Given the description of an element on the screen output the (x, y) to click on. 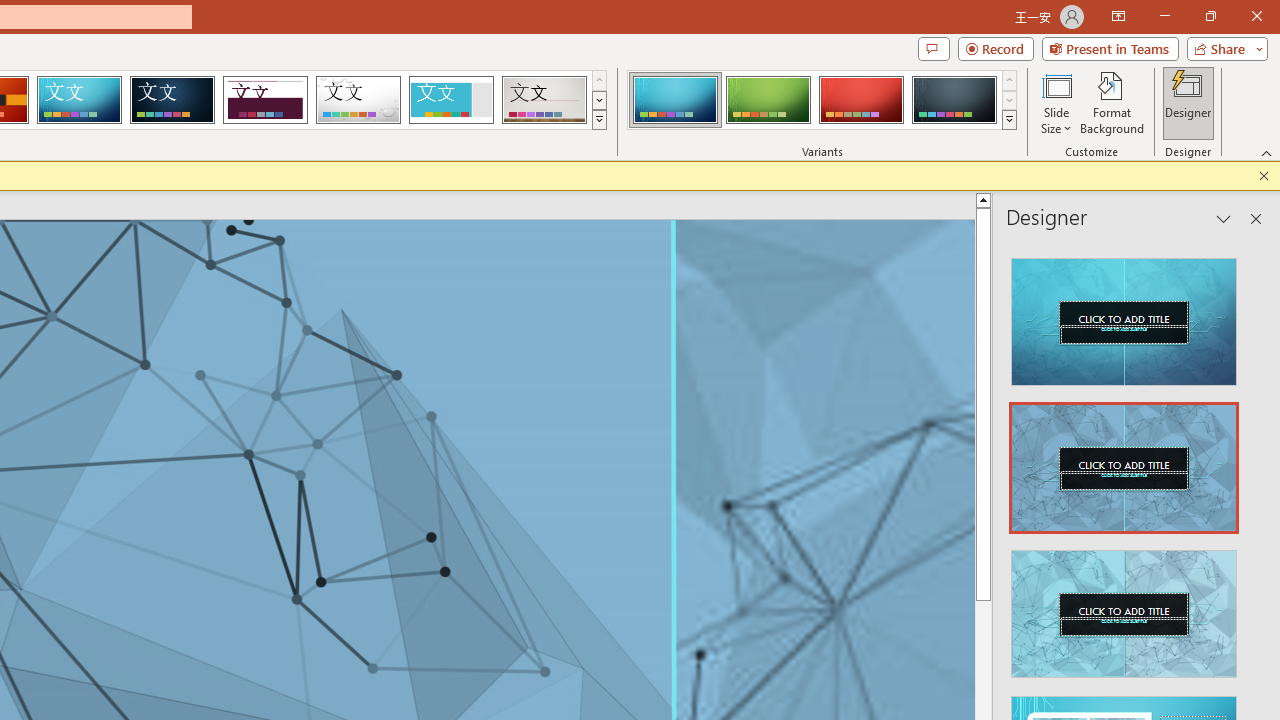
Circuit Variant 3 (861, 100)
Droplet (358, 100)
